Given the description of an element on the screen output the (x, y) to click on. 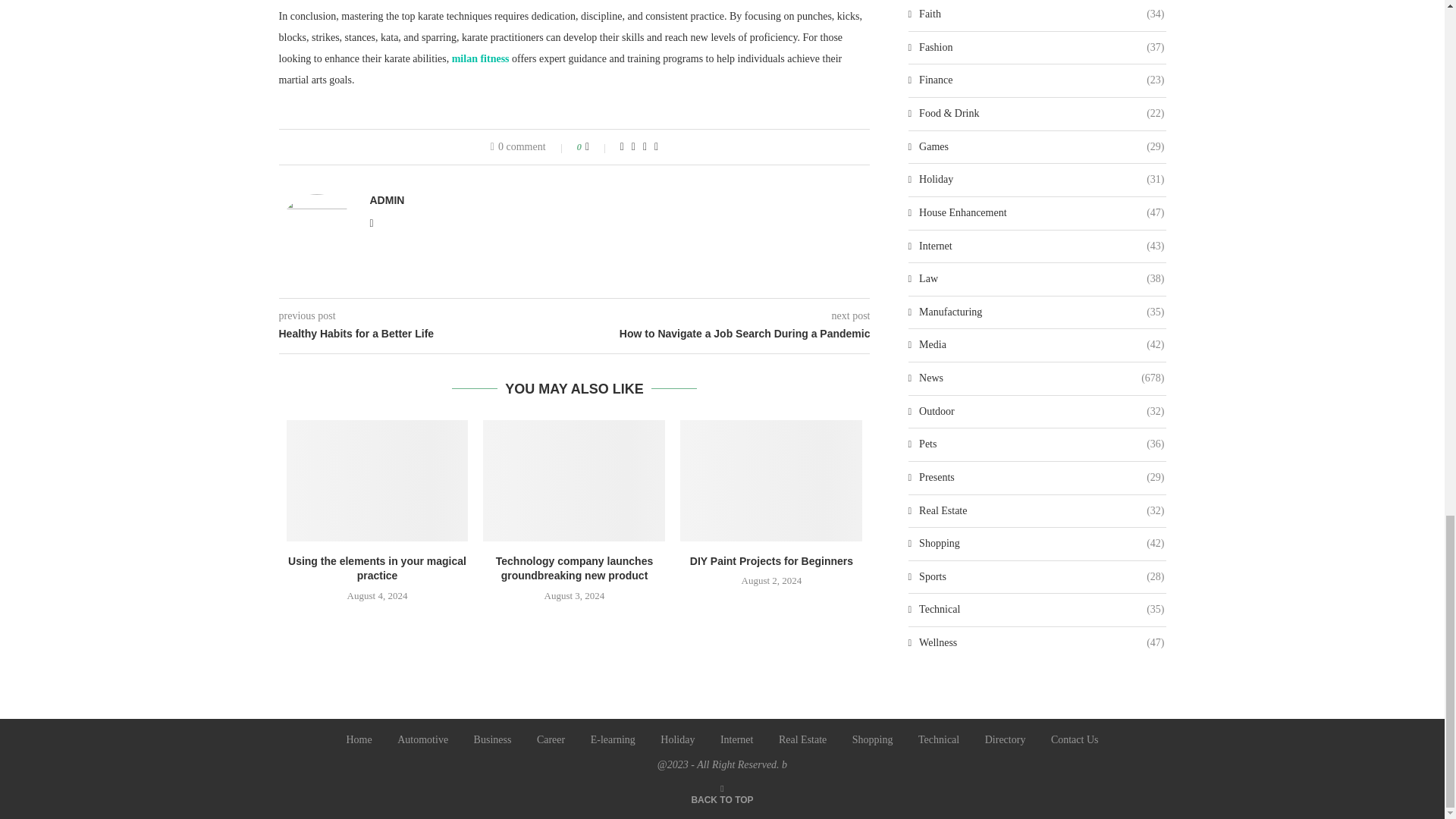
Using the elements in your magical practice (377, 480)
Healthy Habits for a Better Life (427, 334)
Technology company launches groundbreaking new product (574, 480)
milan fitness (480, 58)
DIY Paint Projects for Beginners (770, 480)
Author admin (386, 200)
DIY Paint Projects for Beginners (771, 561)
How to Navigate a Job Search During a Pandemic (722, 334)
Technology company launches groundbreaking new product (574, 568)
Like (597, 146)
Using the elements in your magical practice (376, 568)
ADMIN (386, 200)
